Given the description of an element on the screen output the (x, y) to click on. 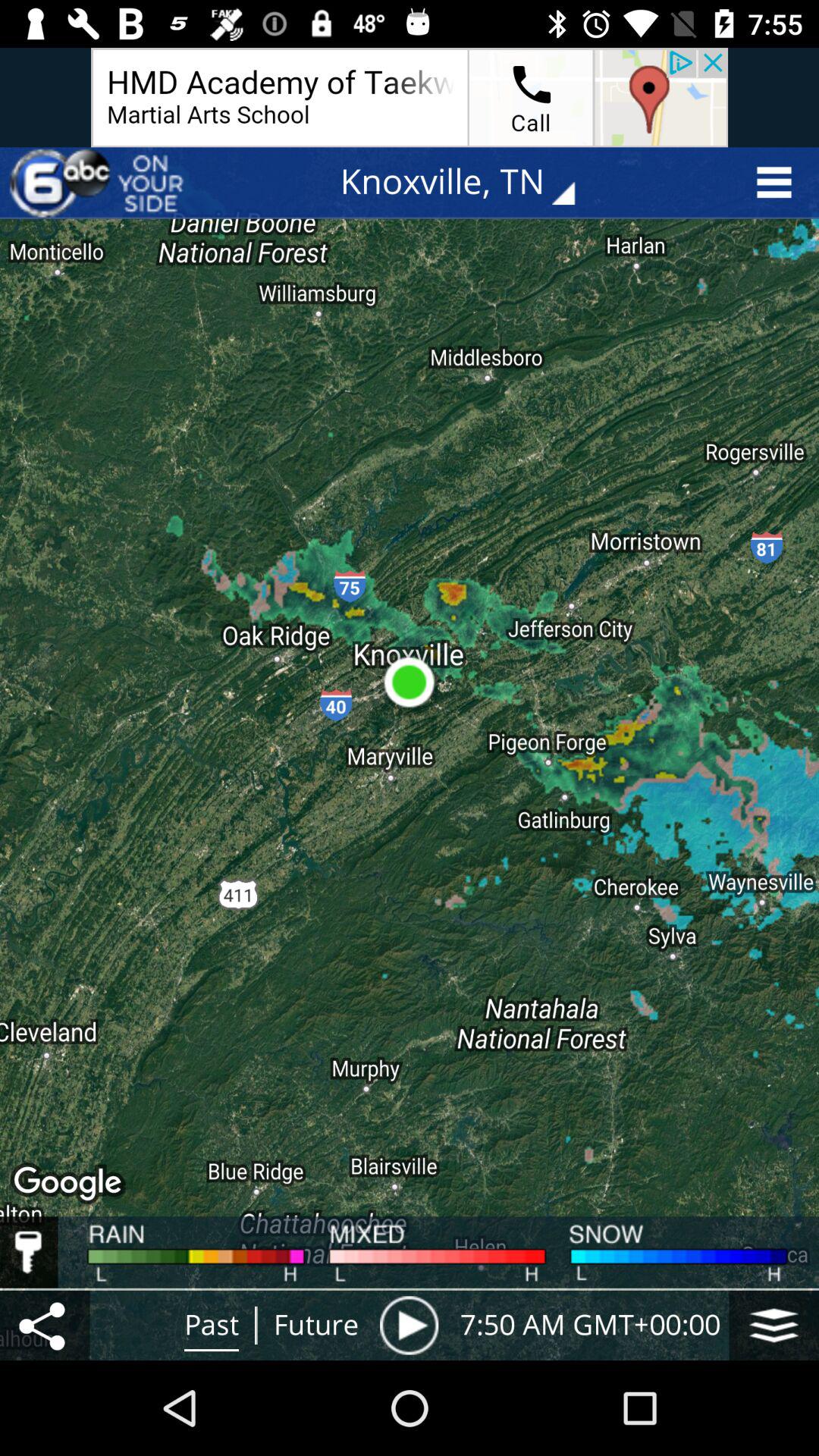
turn on the item to the right of the future (409, 1325)
